Given the description of an element on the screen output the (x, y) to click on. 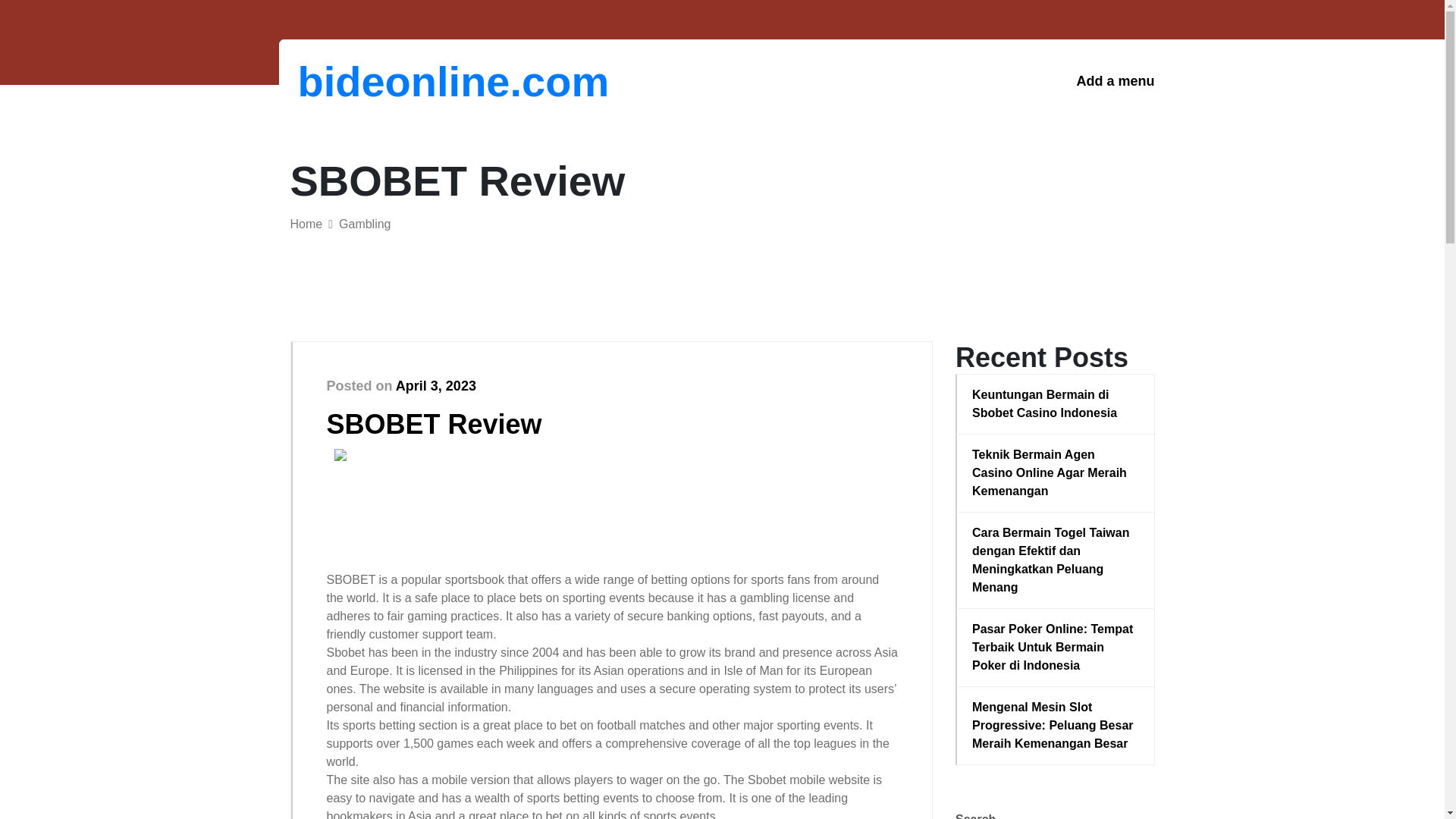
Teknik Bermain Agen Casino Online Agar Meraih Kemenangan (1055, 472)
Gambling (364, 223)
bideonline.com (376, 81)
SBOBET Review (433, 423)
Add a menu (1114, 81)
April 3, 2023 (436, 385)
Home (305, 223)
Keuntungan Bermain di Sbobet Casino Indonesia (1055, 403)
